Given the description of an element on the screen output the (x, y) to click on. 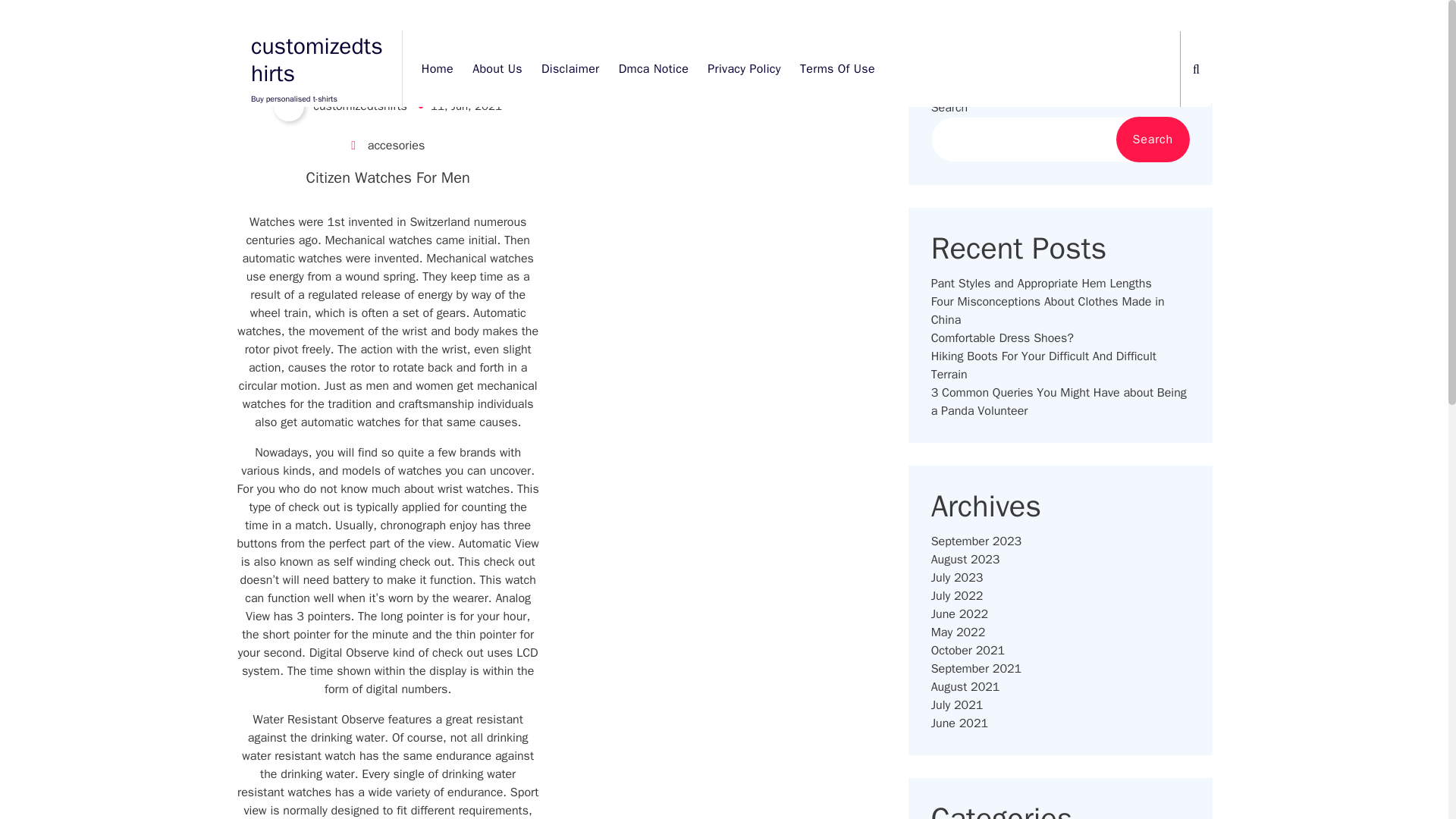
Terms Of Use (837, 68)
customizedtshirts (317, 59)
Privacy Policy (743, 68)
September 2023 (976, 541)
July 2023 (957, 577)
July 2022 (957, 596)
Pant Styles and Appropriate Hem Lengths (1041, 283)
Dmca Notice (653, 68)
October 2021 (967, 650)
customizedtshirts (340, 105)
May 2022 (958, 632)
accesories (396, 145)
Hiking Boots For Your Difficult And Difficult Terrain (1060, 365)
Citizen Watches For Men (387, 177)
